Given the description of an element on the screen output the (x, y) to click on. 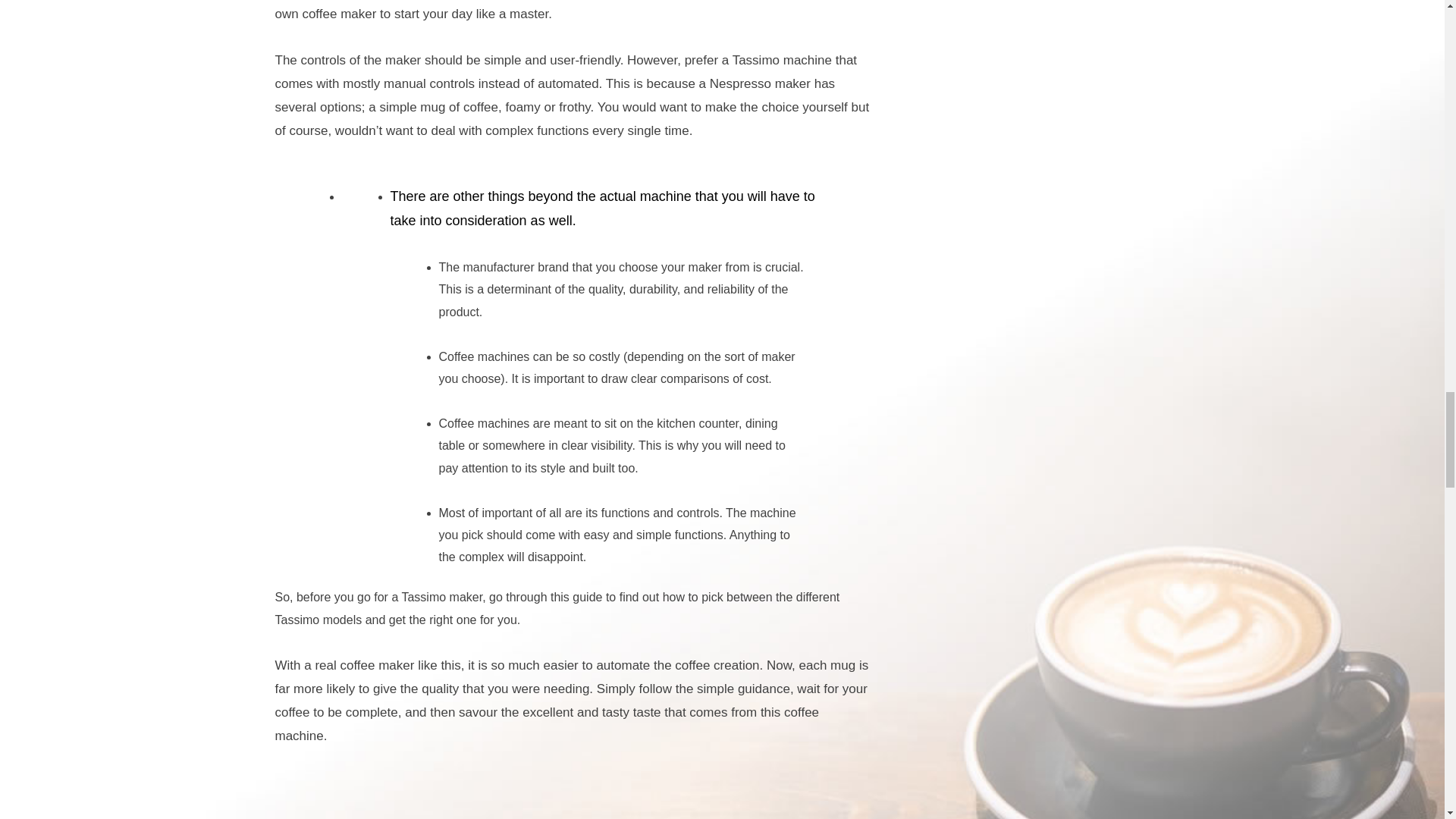
Best Delonghi Coffee Machine (573, 794)
